Given the description of an element on the screen output the (x, y) to click on. 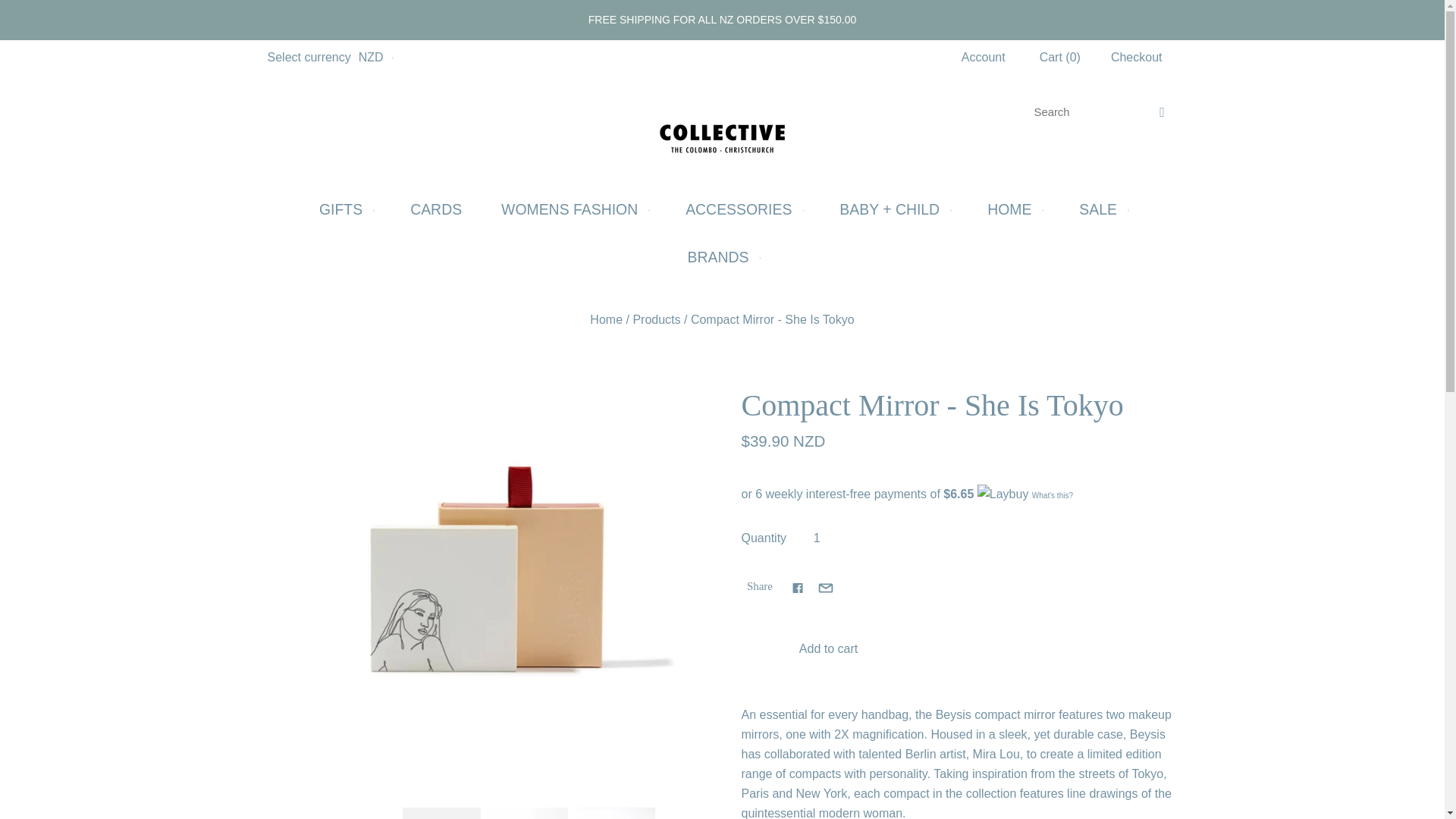
CARDS (435, 209)
Checkout (1136, 57)
WOMENS FASHION (573, 209)
Add to cart (828, 648)
1 (816, 538)
GIFTS (344, 209)
Account (983, 56)
